Given the description of an element on the screen output the (x, y) to click on. 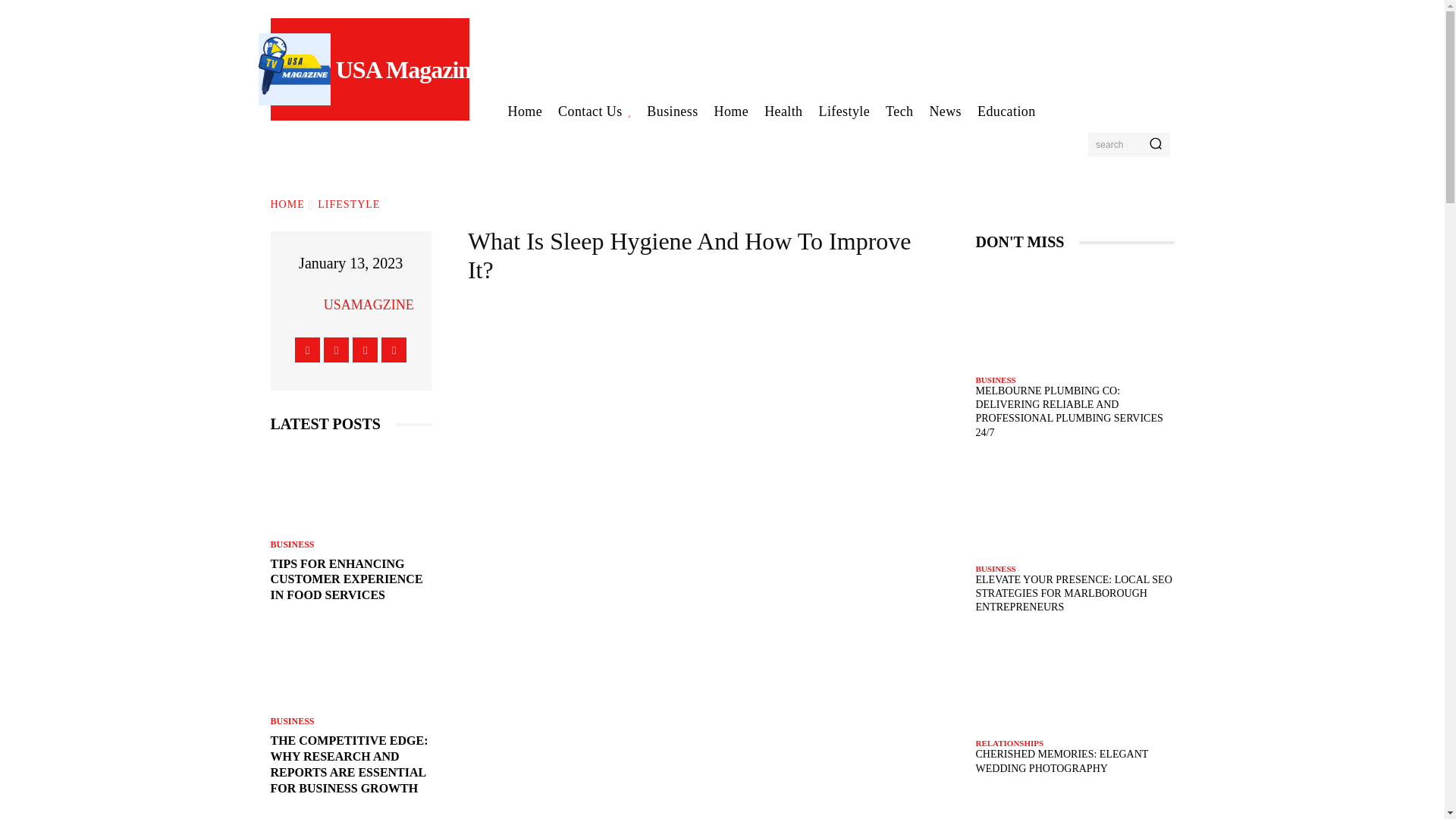
USA Magazine (368, 69)
USA Magazine (368, 69)
Tech (899, 111)
View all posts in Lifestyle (348, 204)
Twitter (364, 349)
Home (524, 111)
Youtube (393, 349)
Contact Us (594, 111)
Lifestyle (844, 111)
USAMAGZINE (368, 304)
